Given the description of an element on the screen output the (x, y) to click on. 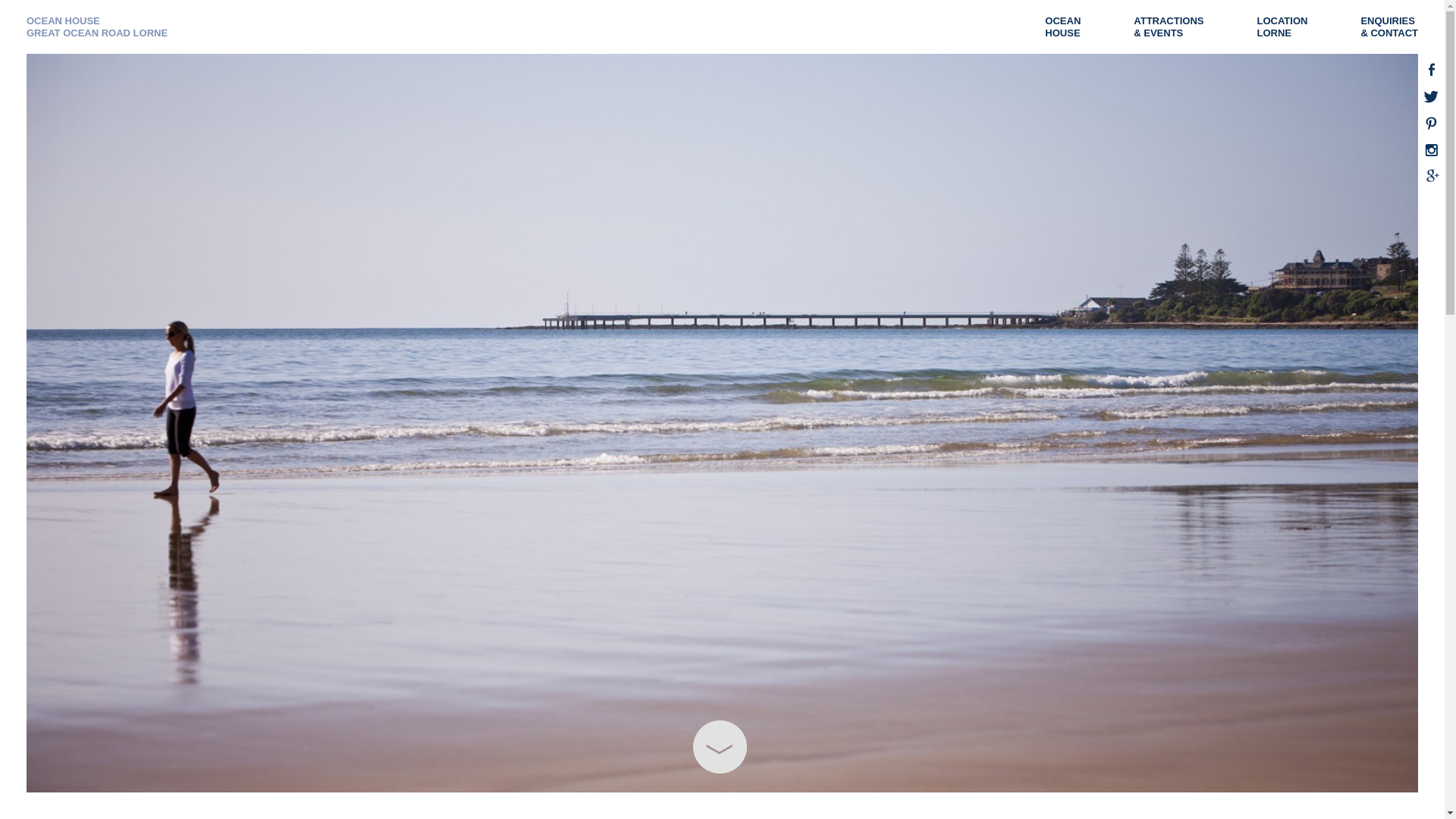
ATTRACTIONS
& EVENTS Element type: text (1175, 26)
OCEAN
HOUSE Element type: text (1069, 26)
LOCATION
LORNE Element type: text (1289, 26)
ENQUIRIES
& CONTACT Element type: text (1396, 26)
OCEAN HOUSE
GREAT OCEAN ROAD LORNE Element type: text (96, 26)
